Given the description of an element on the screen output the (x, y) to click on. 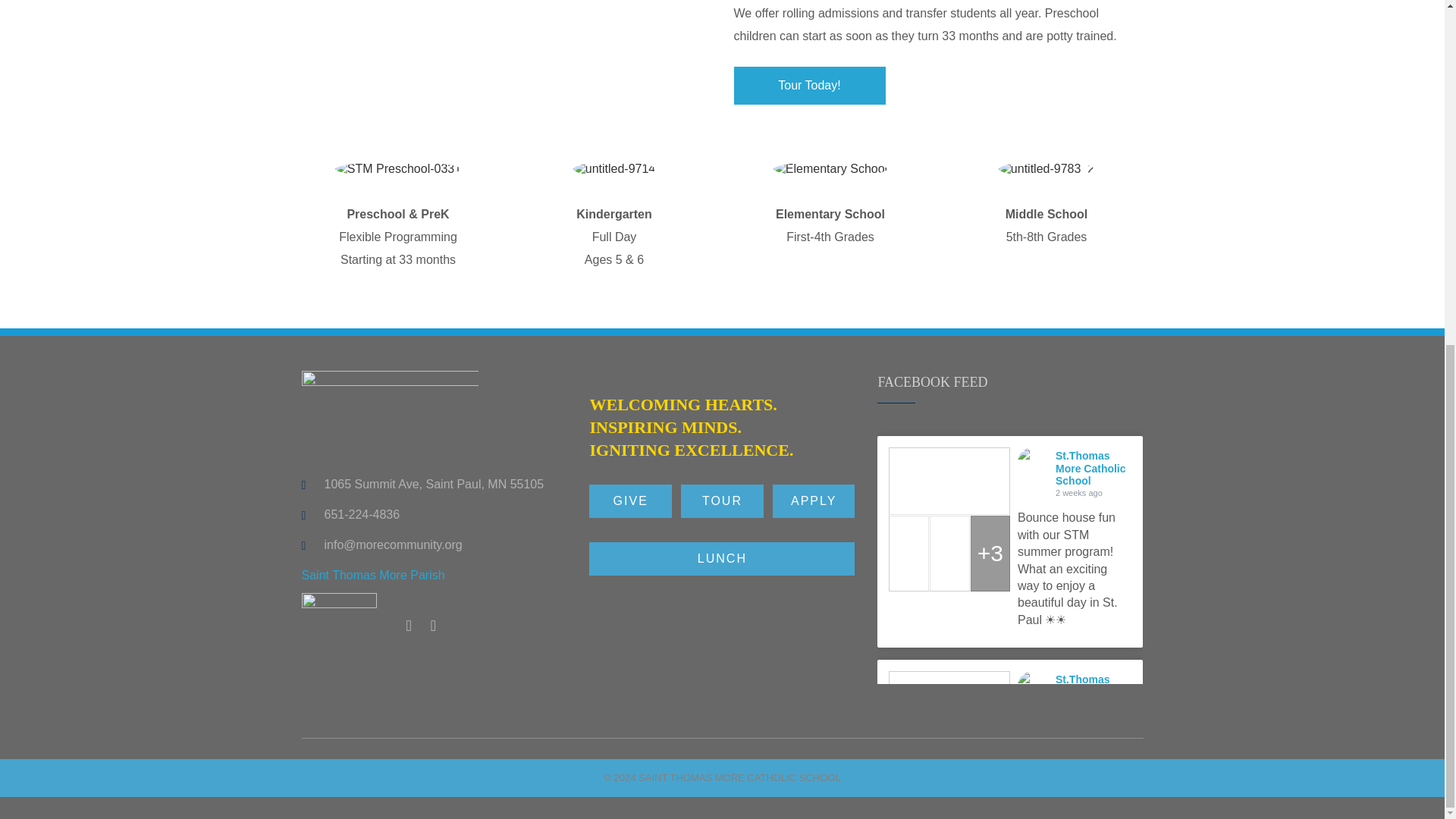
untitled-9714 (614, 168)
Saint Thomas More Parish (373, 574)
GIVE (630, 500)
TOUR (721, 500)
STM Preschool-0331 (397, 168)
Tour Today! (809, 85)
